Given the description of an element on the screen output the (x, y) to click on. 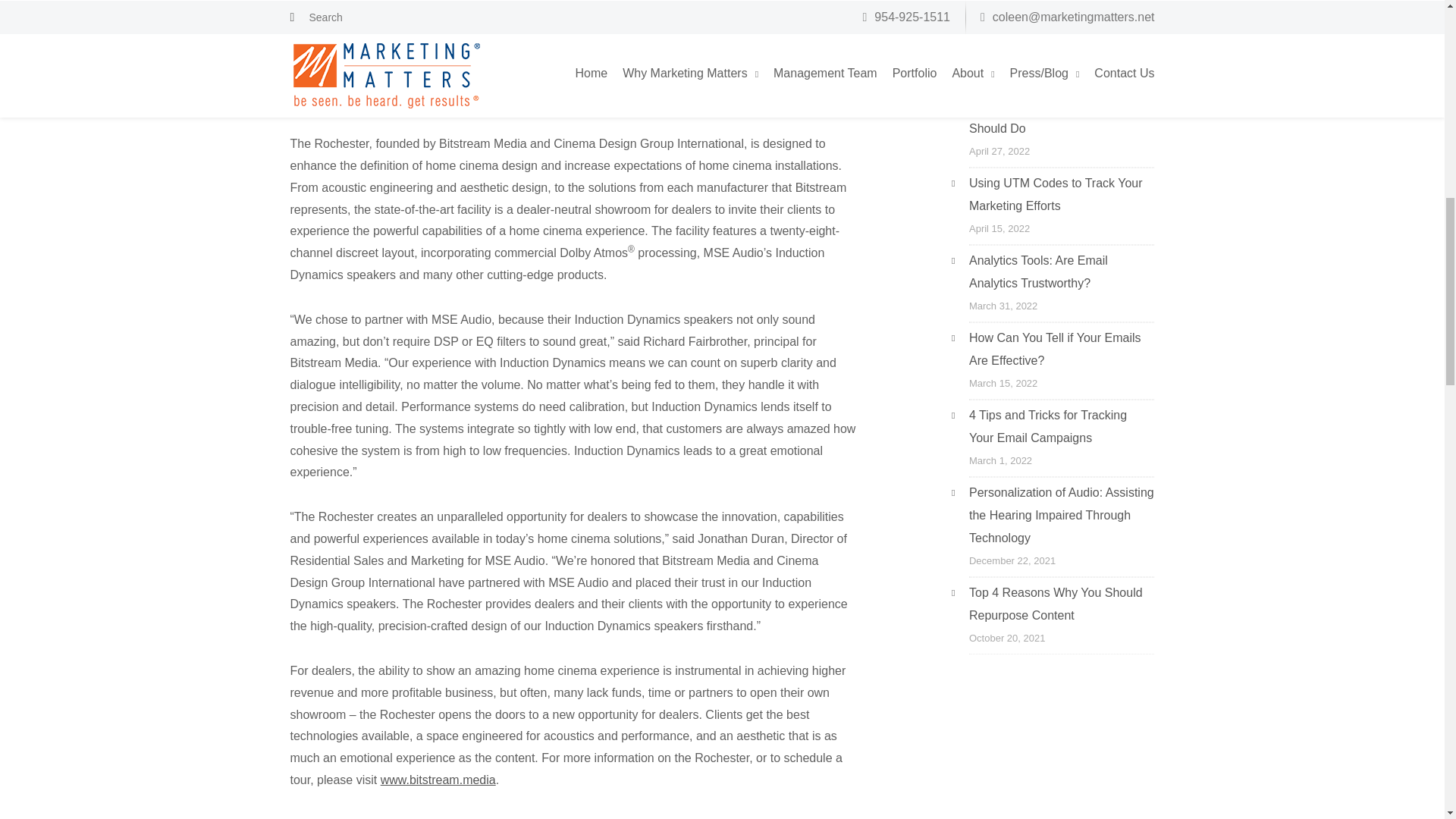
Facebook (794, 818)
www.bitstream.media (438, 779)
